Given the description of an element on the screen output the (x, y) to click on. 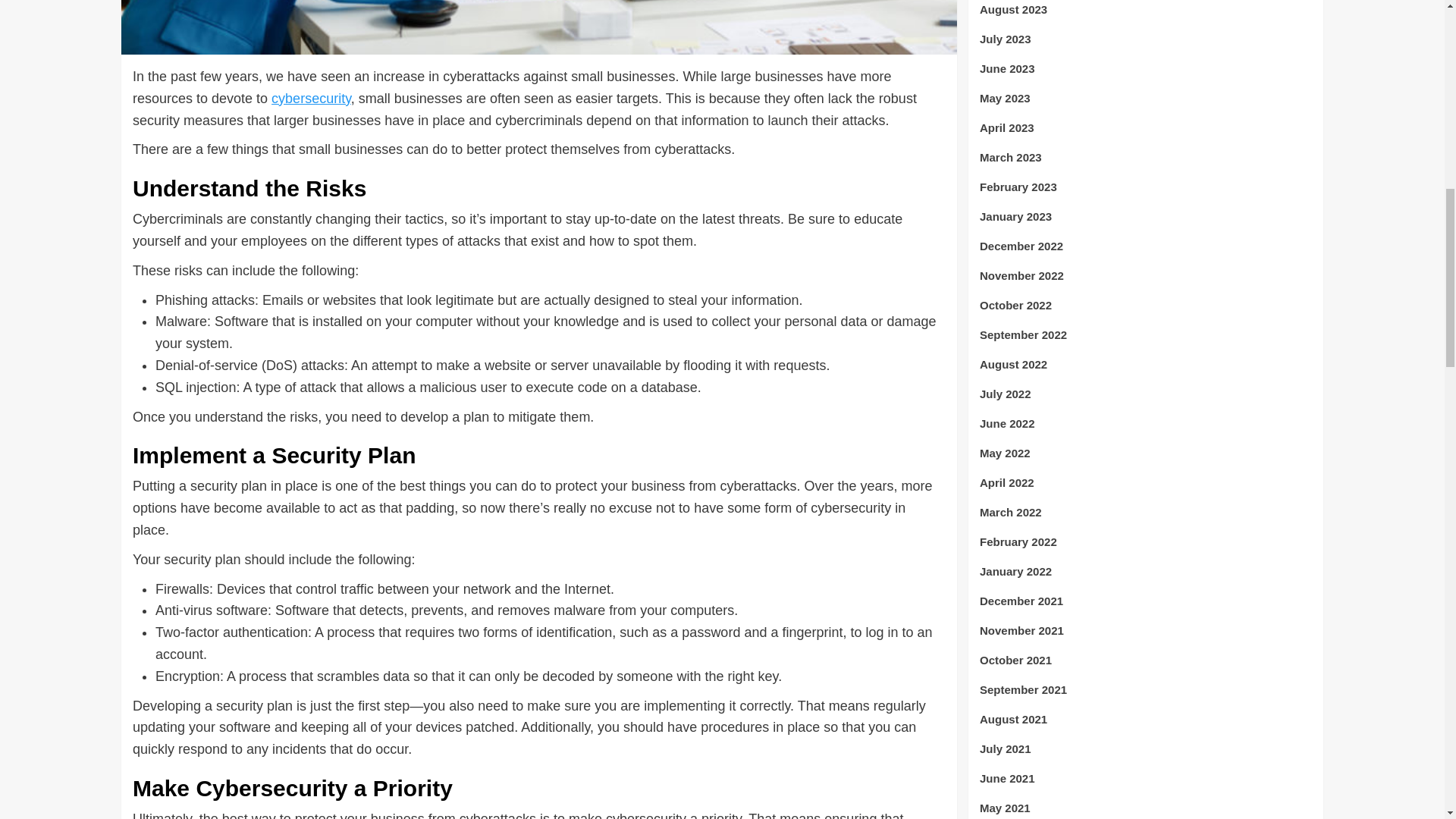
cybersecurity (310, 98)
